Given the description of an element on the screen output the (x, y) to click on. 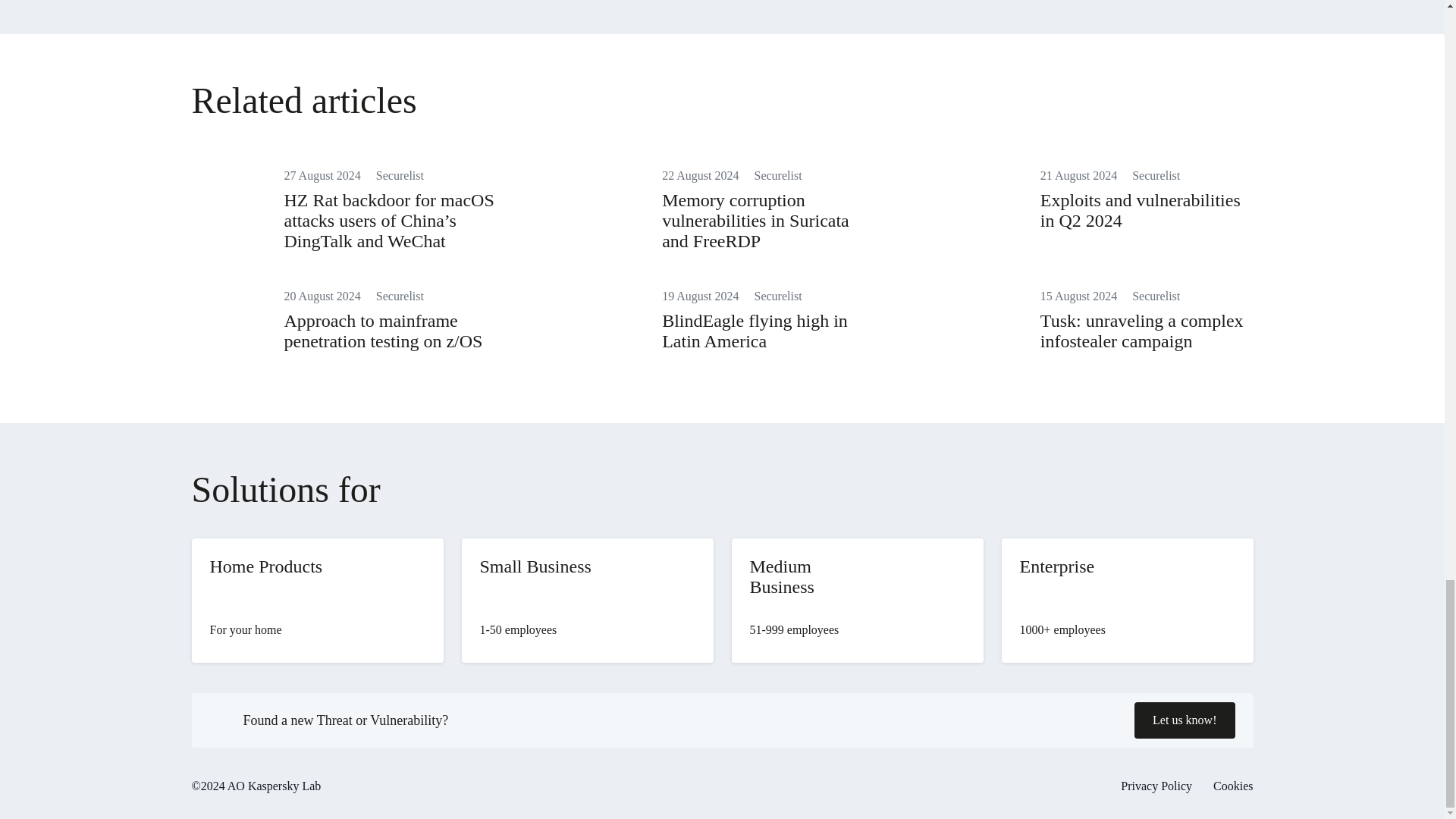
Memory corruption vulnerabilities in Suricata and FreeRDP (755, 220)
Tusk: unraveling a complex infostealer campaign (1142, 331)
Exploits and vulnerabilities in Q2 2024 (1140, 210)
BlindEagle flying high in Latin America (754, 331)
